Given the description of an element on the screen output the (x, y) to click on. 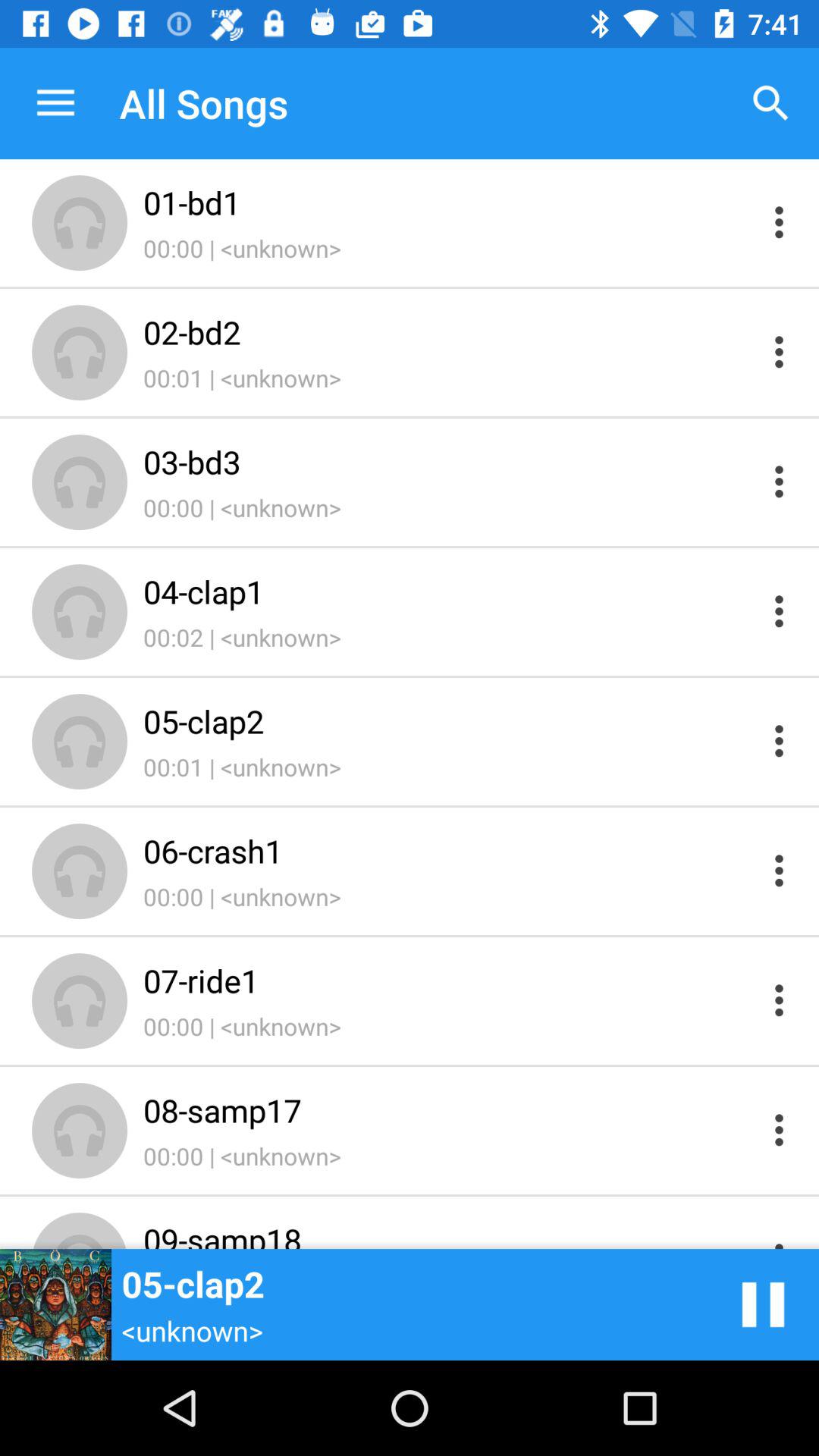
more information (779, 1000)
